Given the description of an element on the screen output the (x, y) to click on. 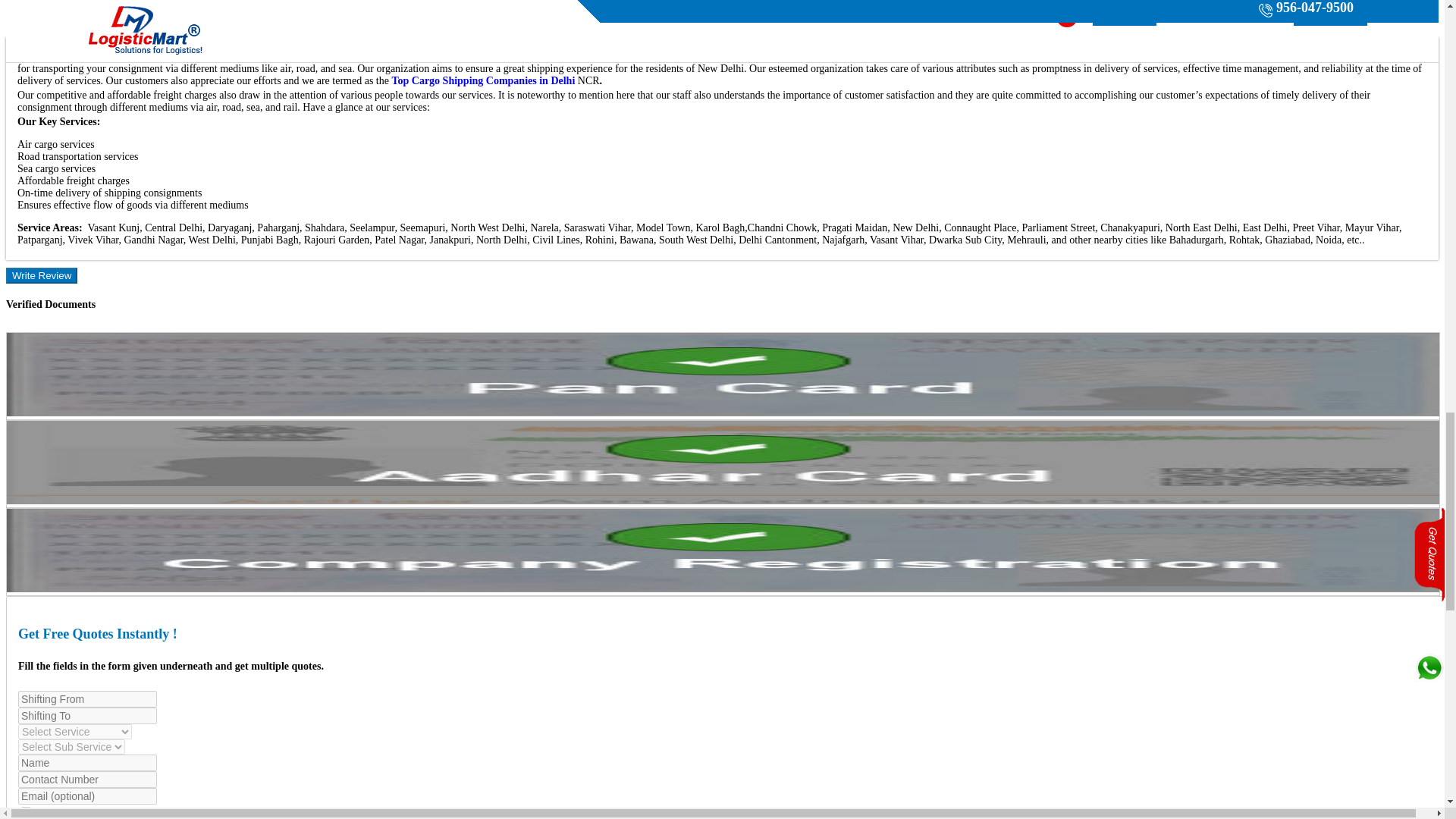
Top Cargo Shipping Companies in Delhi (483, 80)
on (25, 811)
Privacy and Terms. (128, 813)
Write Review (41, 275)
